Given the description of an element on the screen output the (x, y) to click on. 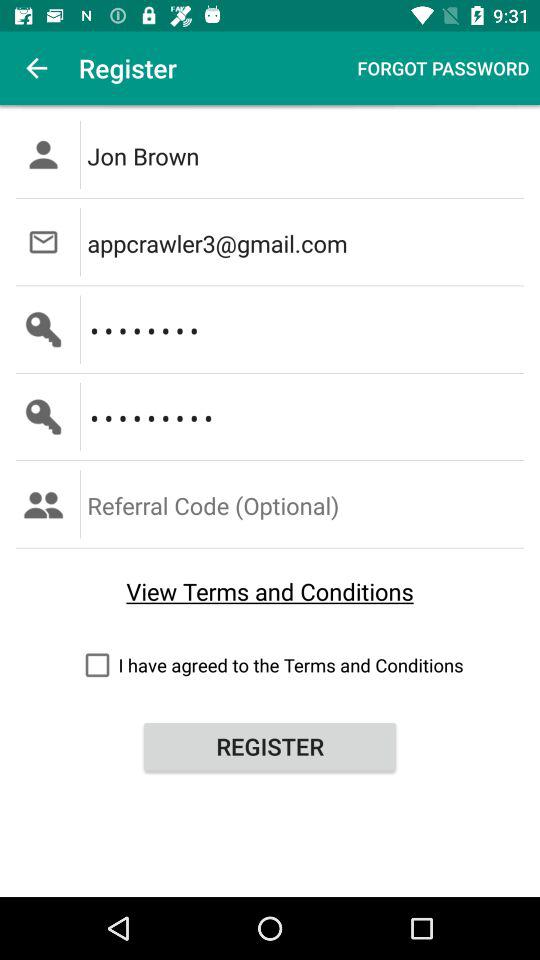
launch the icon to the left of the register icon (36, 68)
